Given the description of an element on the screen output the (x, y) to click on. 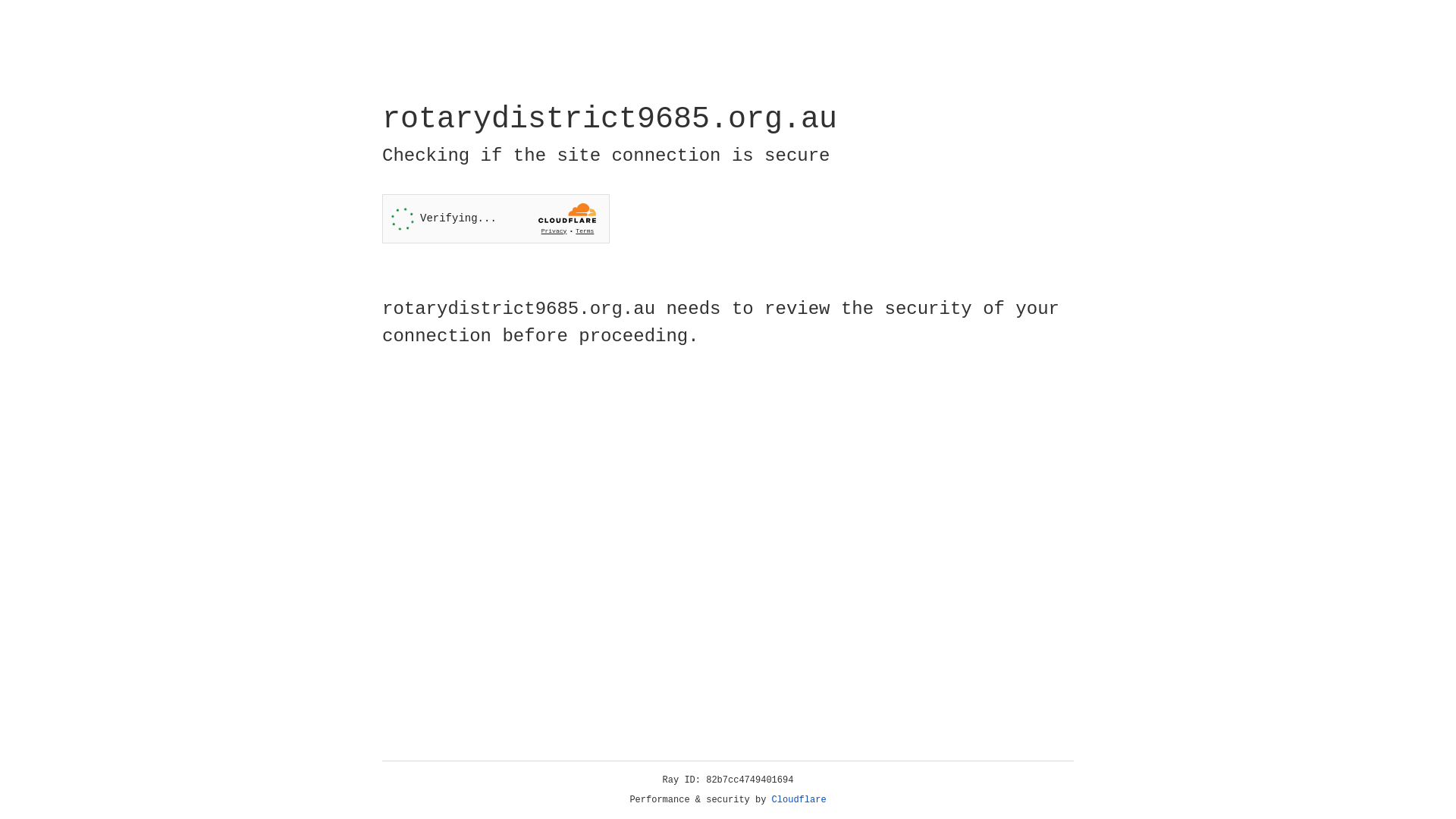
Widget containing a Cloudflare security challenge Element type: hover (495, 218)
Cloudflare Element type: text (798, 799)
